Given the description of an element on the screen output the (x, y) to click on. 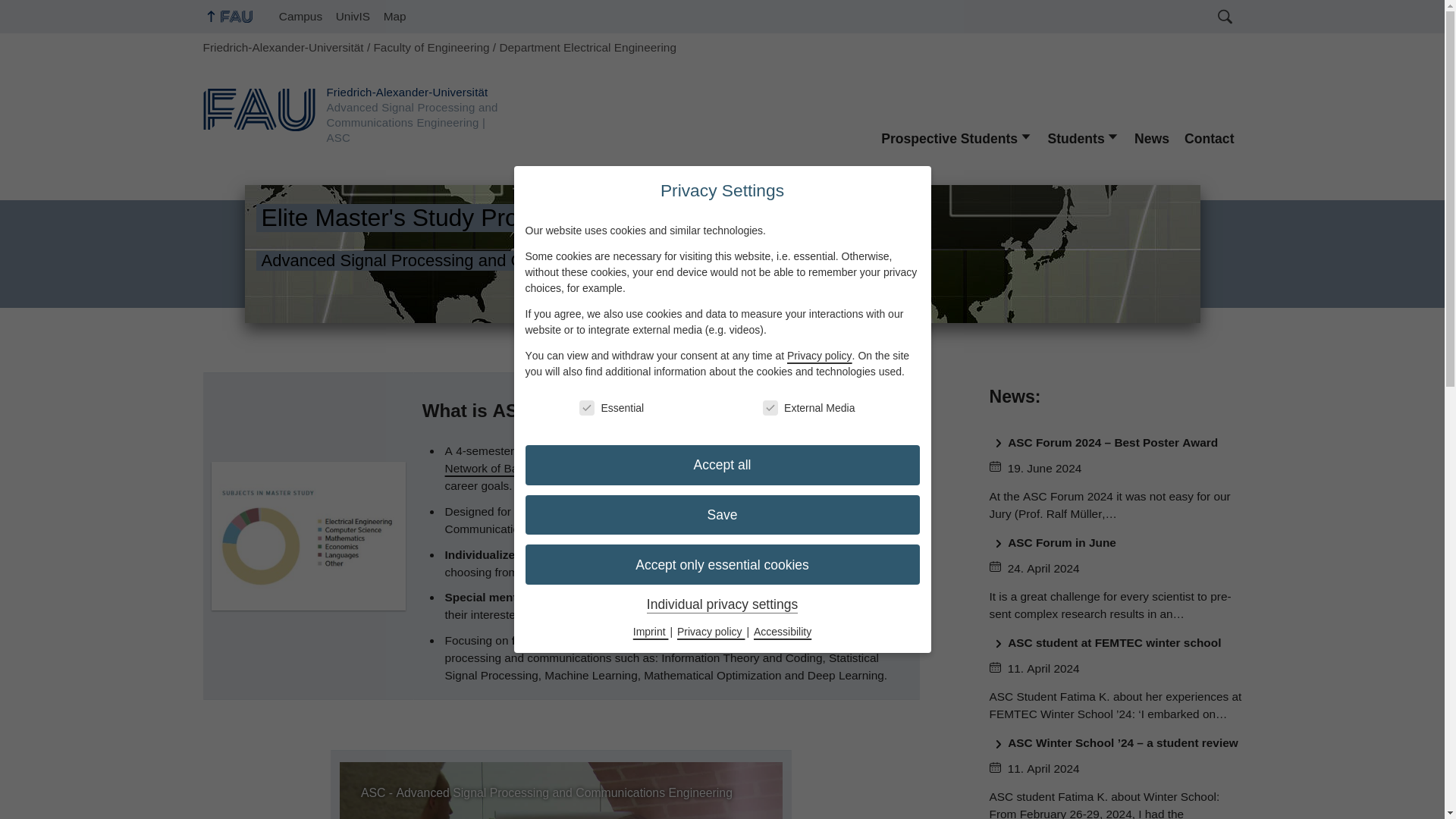
Department Electrical Engineering (588, 47)
Students (1082, 138)
News (1151, 138)
Map (395, 16)
UnivIS (353, 16)
Prospective Students (956, 138)
Campus (300, 16)
Faculty of Engineering (430, 47)
Elite Network of Bavaria (660, 459)
Contact (1208, 138)
